Given the description of an element on the screen output the (x, y) to click on. 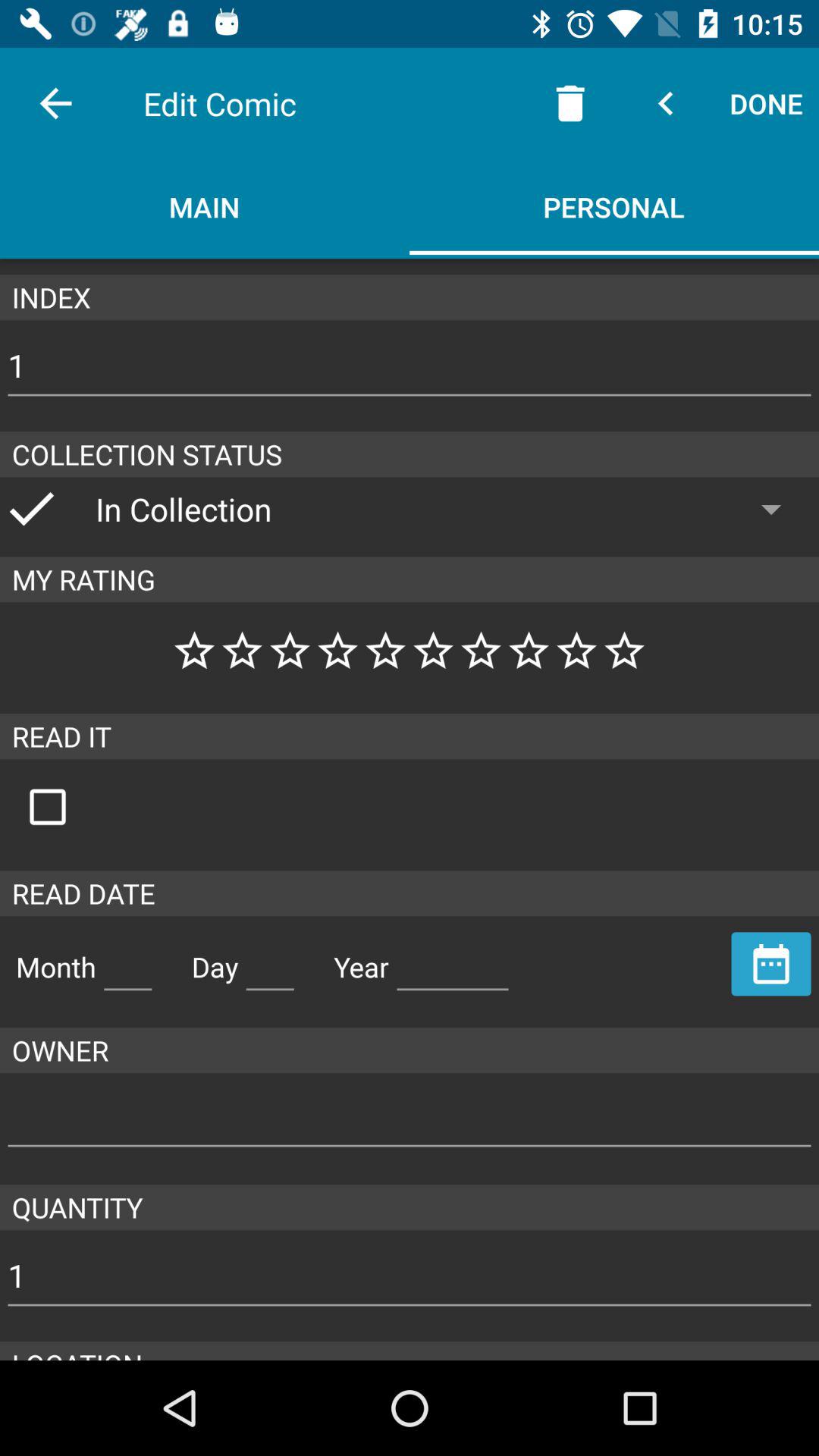
select zoom button (63, 806)
